Given the description of an element on the screen output the (x, y) to click on. 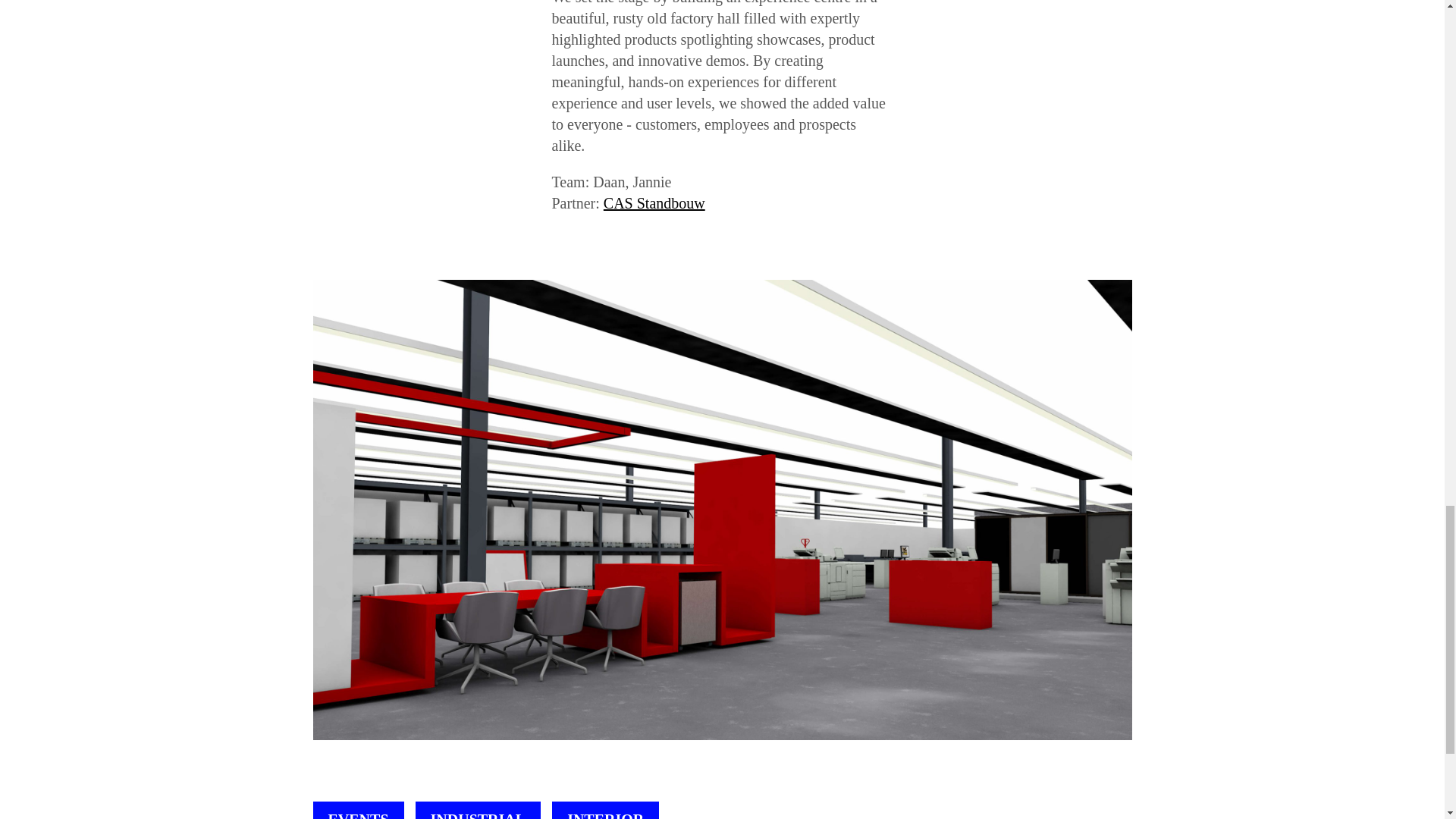
INDUSTRIAL (477, 810)
INTERIOR (605, 810)
CAS Standbouw (654, 202)
EVENTS (358, 810)
